Given the description of an element on the screen output the (x, y) to click on. 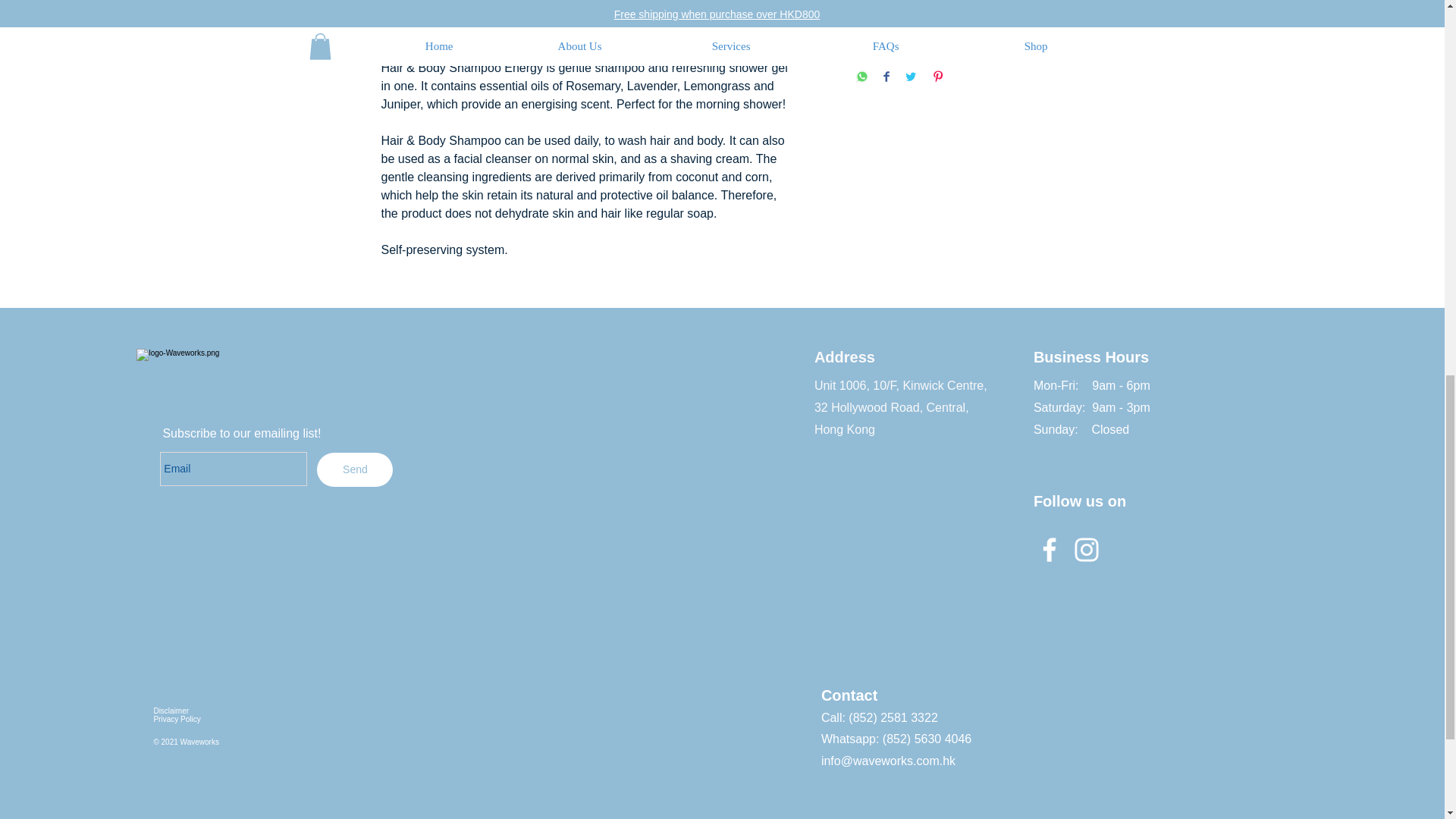
Use right and left arrows to navigate between tabs (673, 19)
Privacy Policy (176, 718)
Use right and left arrows to navigate between tabs (579, 19)
Disclaimer (170, 710)
Use right and left arrows to navigate between tabs (456, 19)
Send (355, 469)
1 (885, 0)
Add to Cart (959, 40)
